Given the description of an element on the screen output the (x, y) to click on. 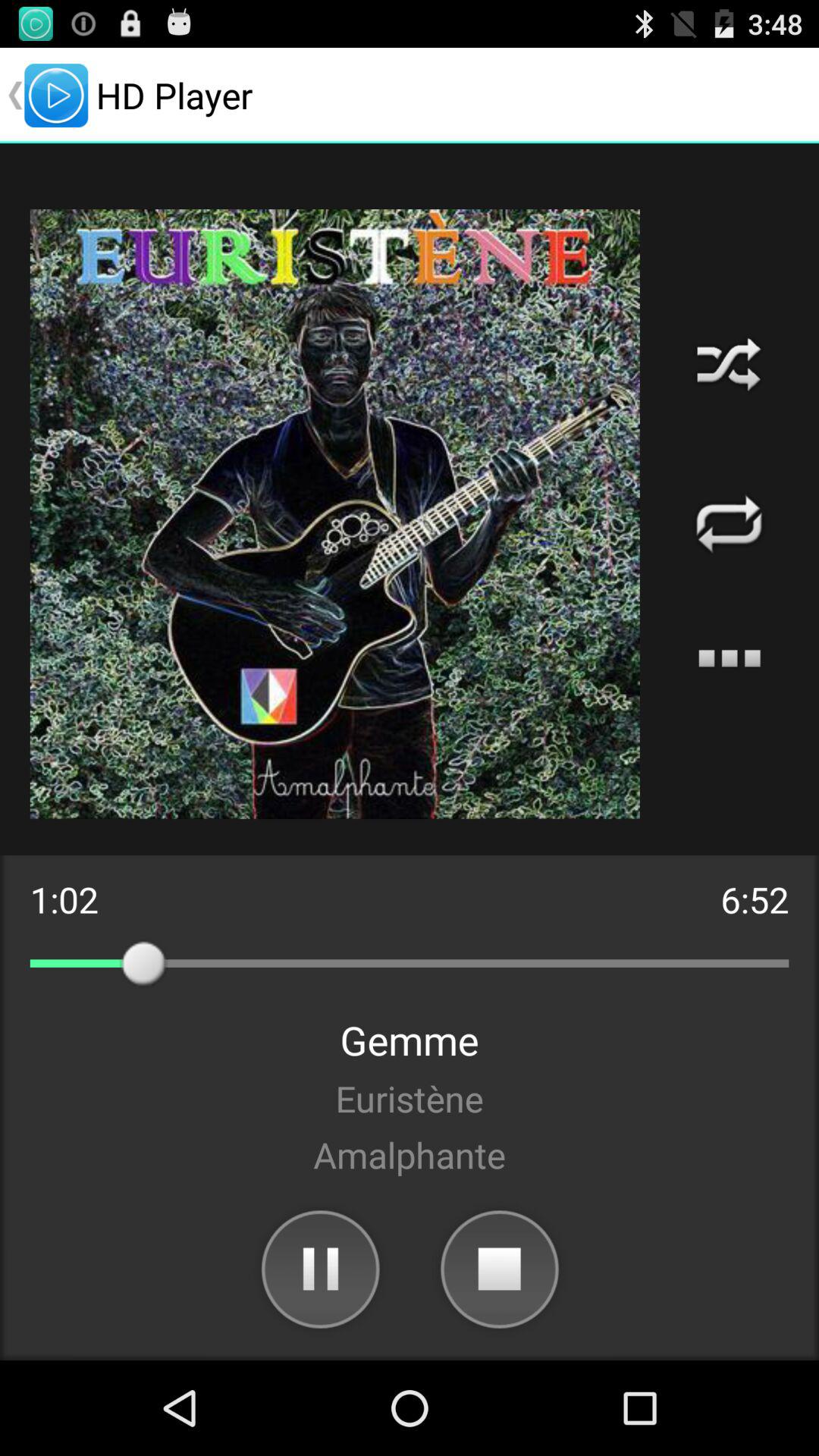
tap the item below the gemme app (409, 1098)
